Given the description of an element on the screen output the (x, y) to click on. 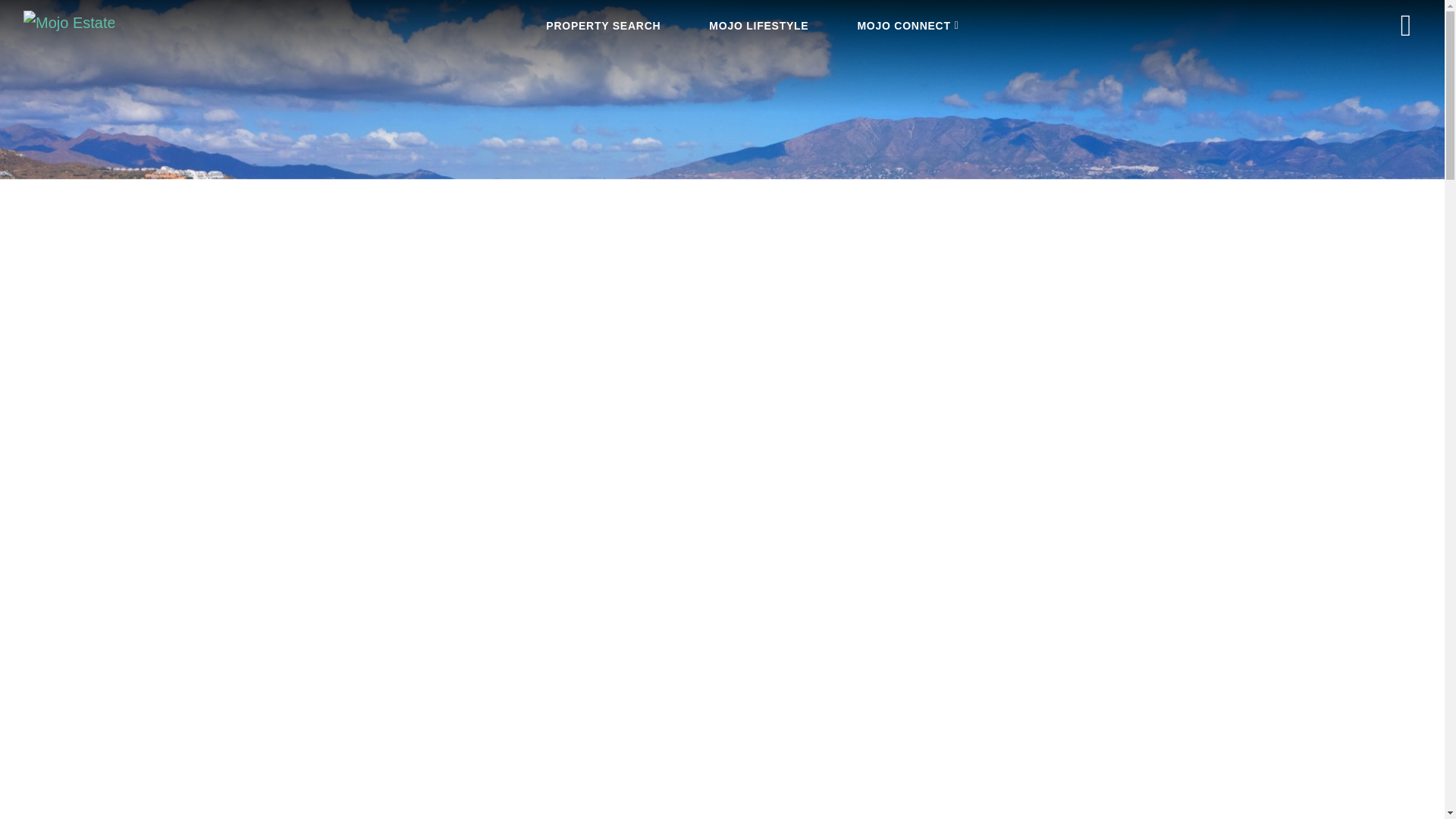
MOJO CONNECT (907, 25)
PROPERTY SEARCH (603, 25)
Mojo Lifestyle (759, 25)
Mojo Connect (907, 25)
MOJO LIFESTYLE (759, 25)
Property Search (603, 25)
